Given the description of an element on the screen output the (x, y) to click on. 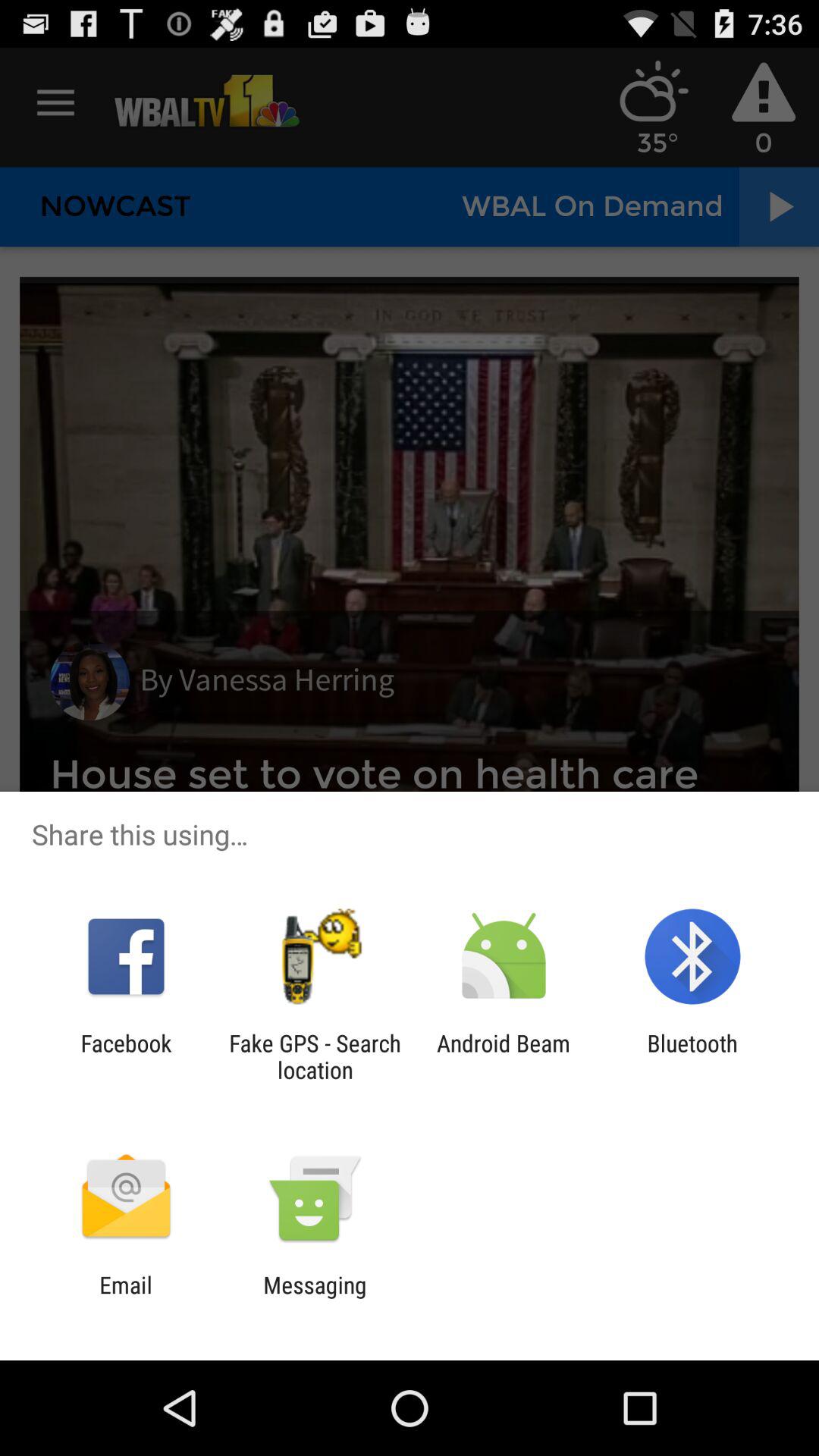
select item next to the facebook item (314, 1056)
